Given the description of an element on the screen output the (x, y) to click on. 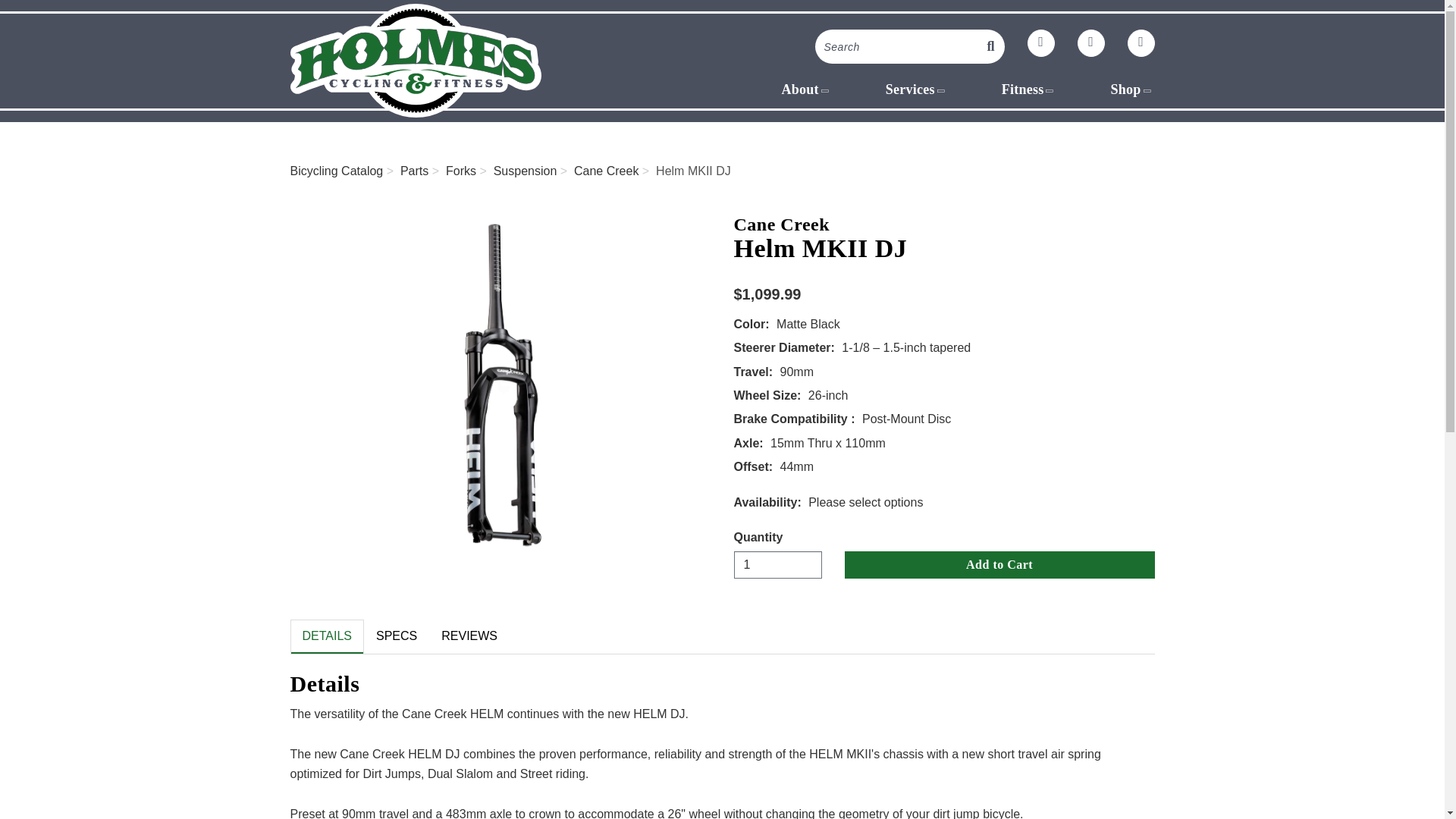
Fitness (1029, 89)
About (805, 89)
Shop (1131, 89)
1 (777, 564)
Services (917, 89)
Search (894, 45)
